Given the description of an element on the screen output the (x, y) to click on. 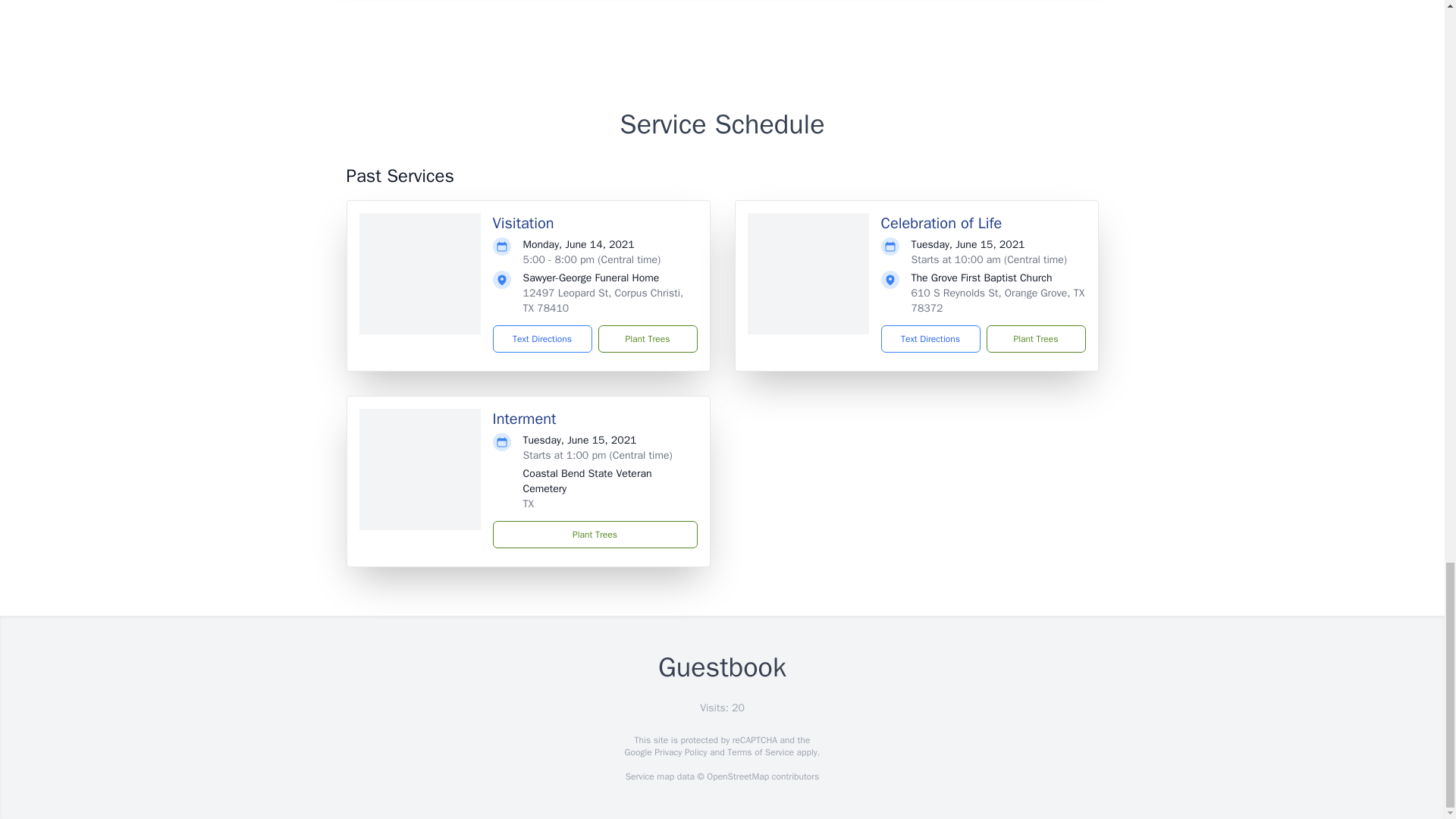
Terms of Service (759, 752)
Plant Trees (646, 338)
610 S Reynolds St, Orange Grove, TX 78372 (997, 300)
Plant Trees (595, 533)
Privacy Policy (679, 752)
Text Directions (542, 338)
Plant Trees (1034, 338)
12497 Leopard St, Corpus Christi, TX 78410 (603, 300)
OpenStreetMap (737, 776)
Text Directions (929, 338)
